Given the description of an element on the screen output the (x, y) to click on. 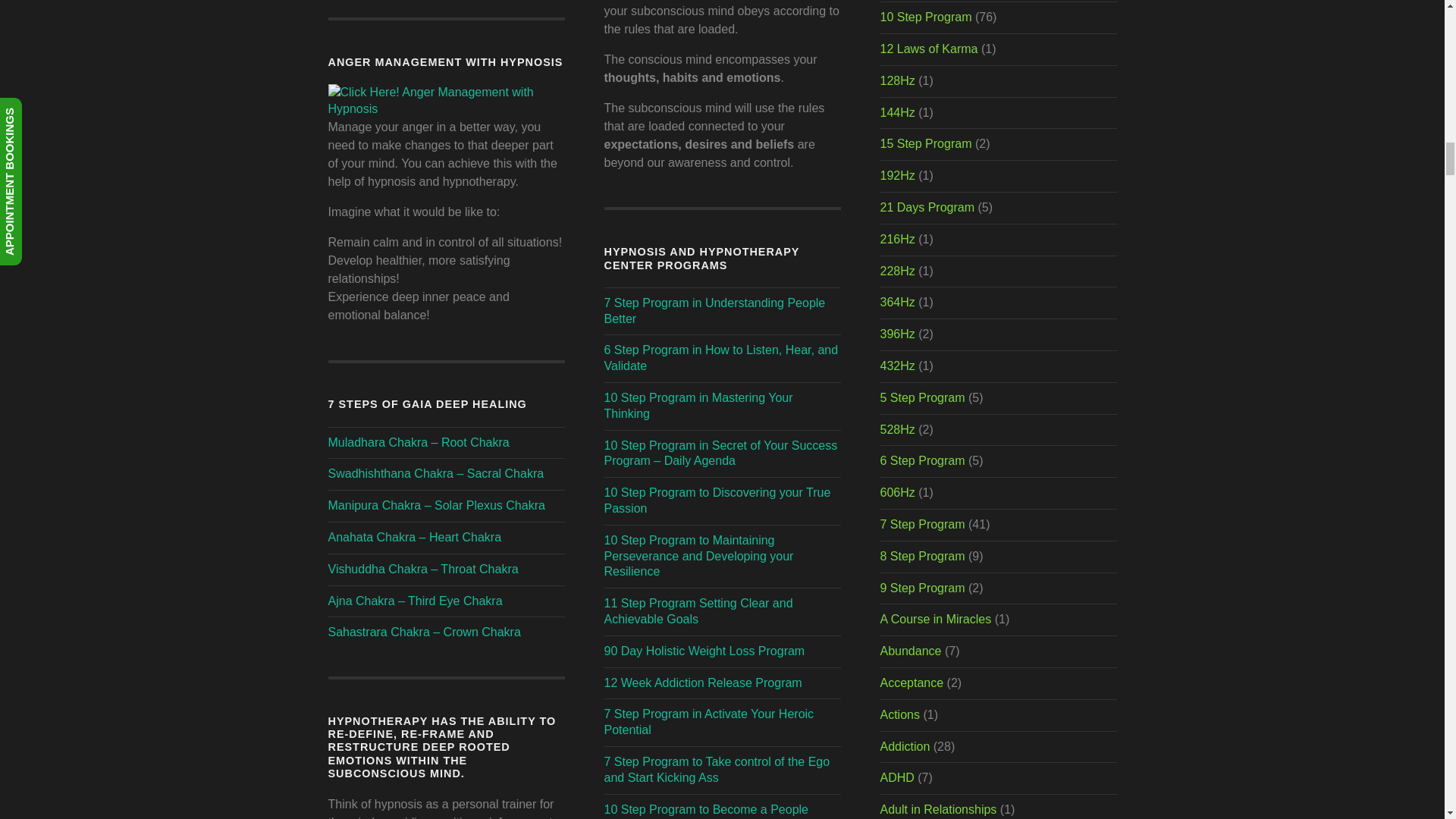
Click Here! Anger Management with Hypnosis (445, 108)
